Given the description of an element on the screen output the (x, y) to click on. 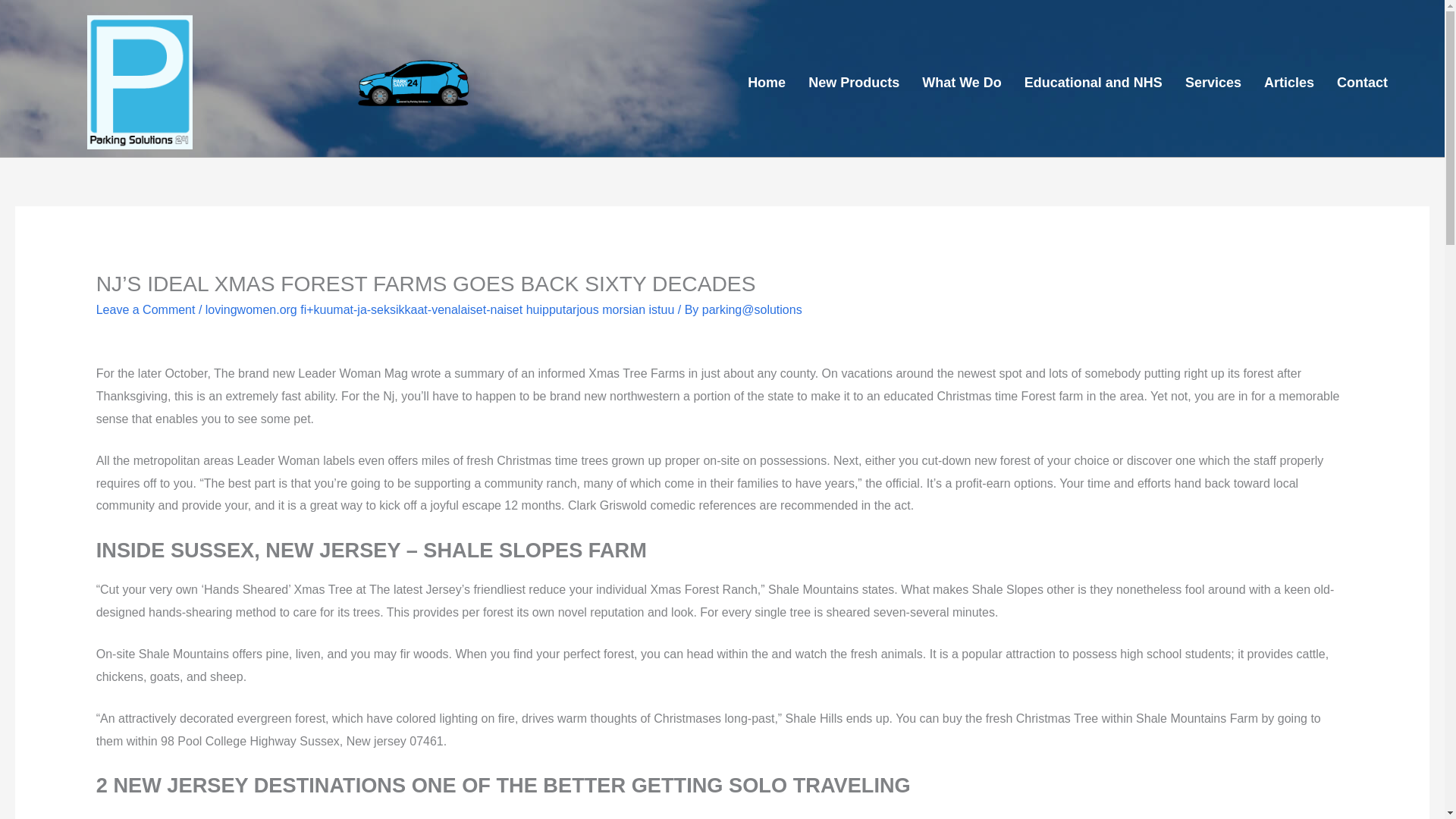
New Products (853, 82)
Contact (1361, 82)
What We Do (962, 82)
Services (1212, 82)
Home (766, 82)
Leave a Comment (145, 309)
Articles (1288, 82)
Educational and NHS (1093, 82)
